Given the description of an element on the screen output the (x, y) to click on. 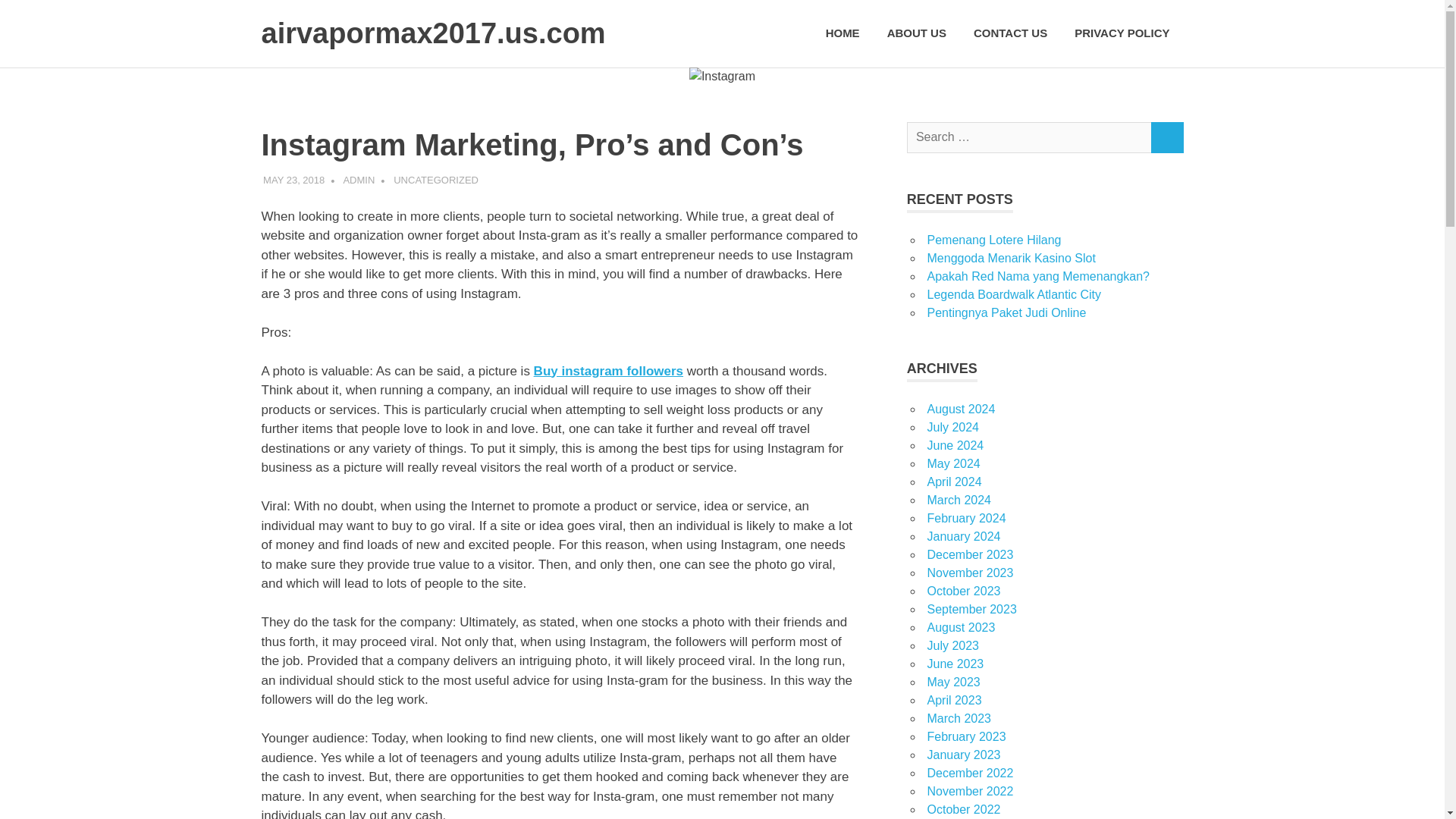
June 2023 (955, 663)
November 2023 (969, 572)
June 2024 (955, 445)
7:24 am (293, 179)
May 2023 (952, 681)
ADMIN (358, 179)
February 2024 (966, 517)
Pemenang Lotere Hilang (993, 239)
December 2023 (969, 554)
April 2023 (953, 699)
